Given the description of an element on the screen output the (x, y) to click on. 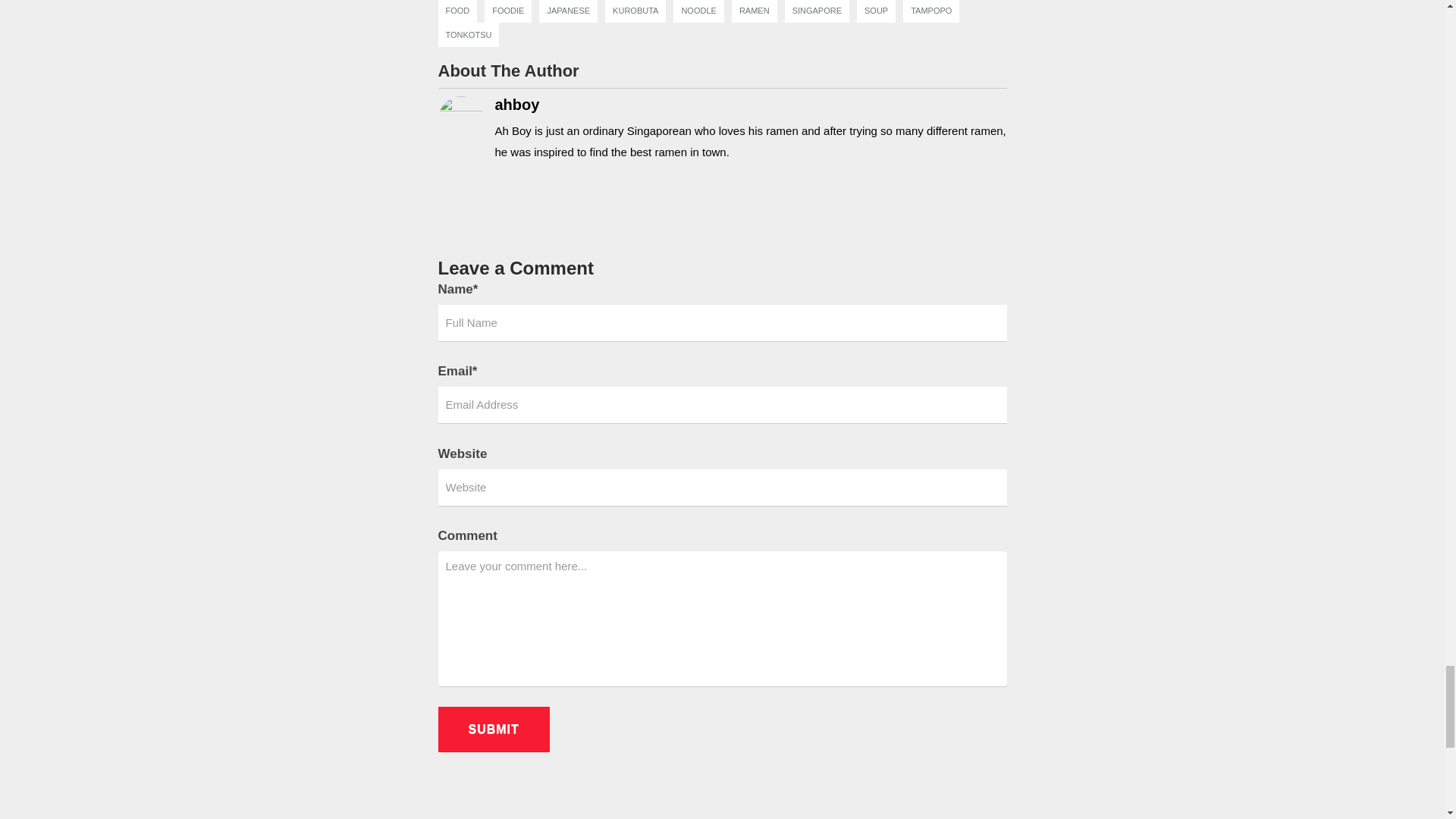
SINGAPORE (816, 10)
KUROBUTA (635, 10)
Submit (494, 729)
Submit (494, 729)
TONKOTSU (468, 34)
FOODIE (508, 10)
RAMEN (754, 10)
SOUP (876, 10)
FOOD (457, 10)
TAMPOPO (931, 10)
JAPANESE (568, 10)
NOODLE (698, 10)
